Given the description of an element on the screen output the (x, y) to click on. 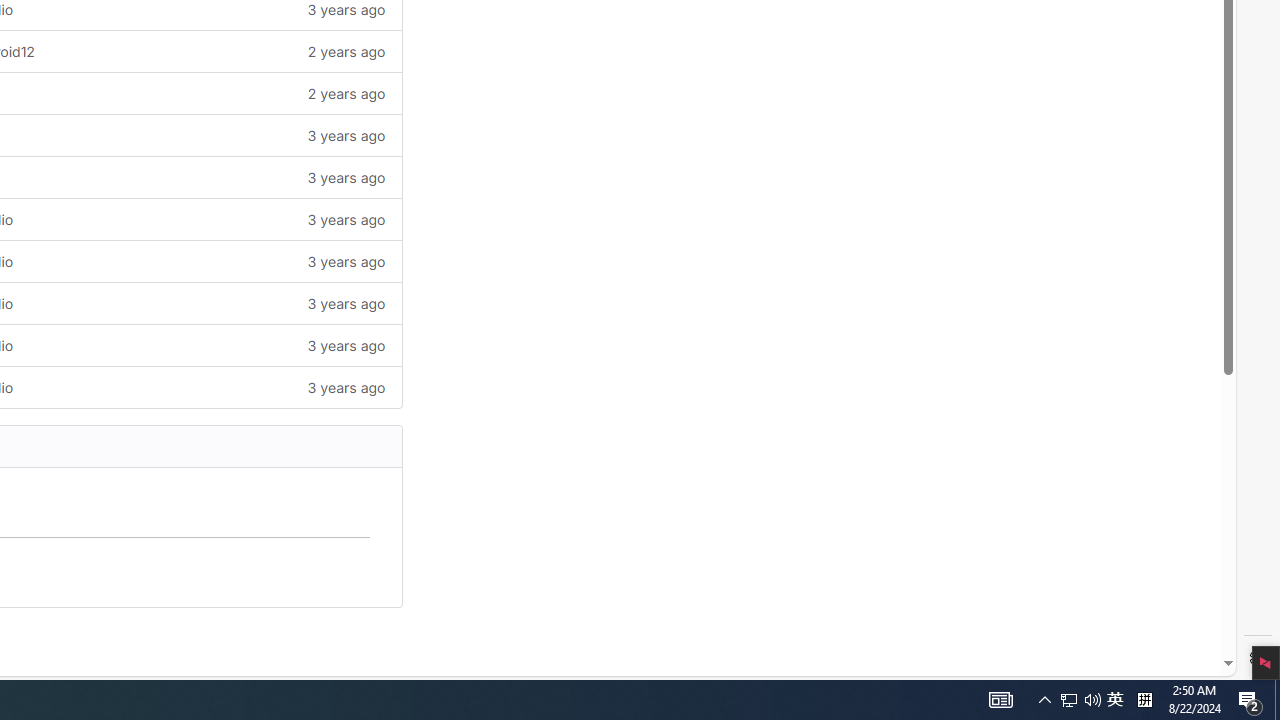
3 years ago (247, 386)
2 years ago (247, 93)
